Given the description of an element on the screen output the (x, y) to click on. 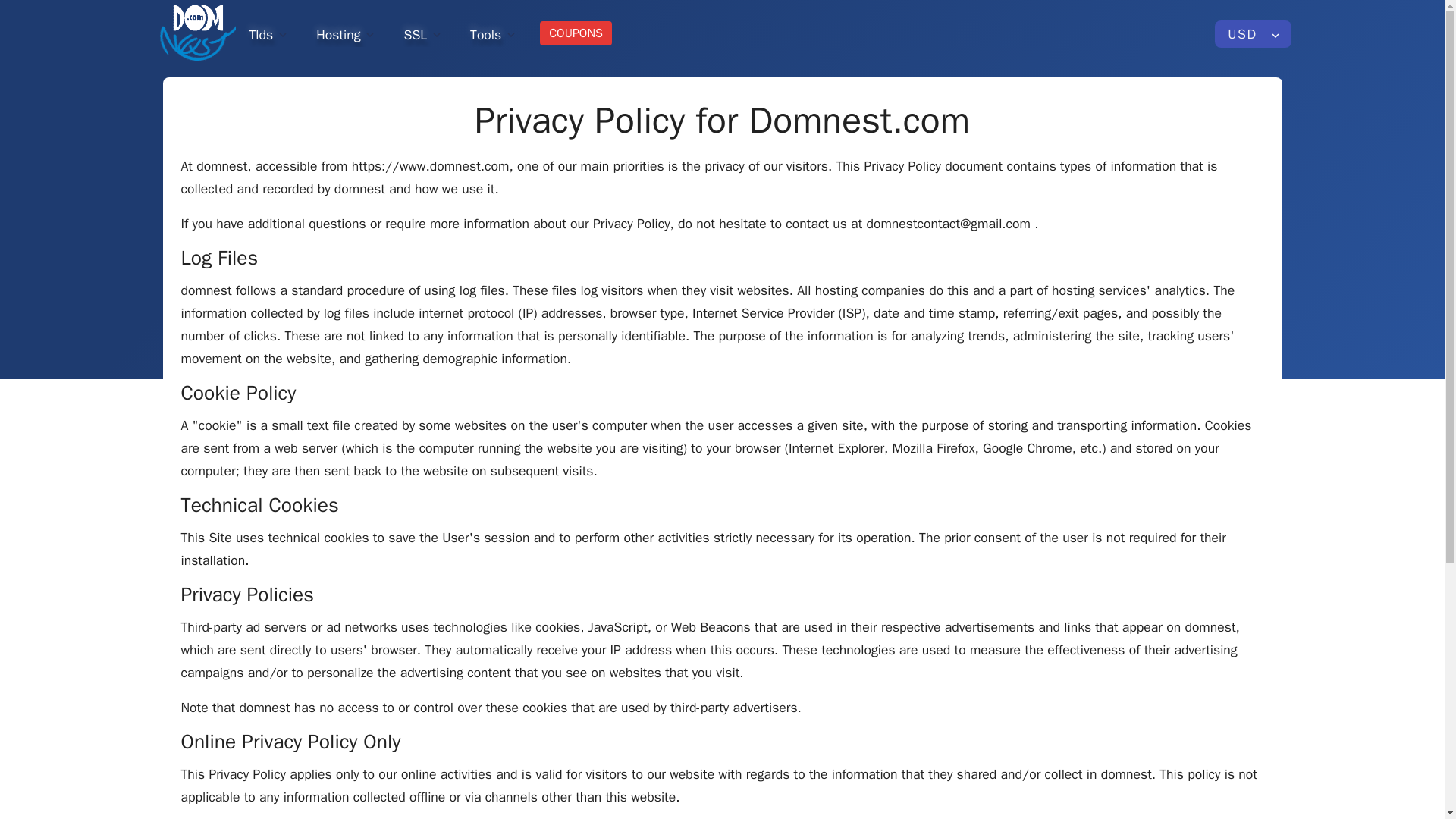
USD (1252, 33)
Tools (494, 33)
SSL (423, 33)
domnest (196, 33)
Tlds (269, 33)
Hosting (346, 33)
COUPONS (575, 33)
